Given the description of an element on the screen output the (x, y) to click on. 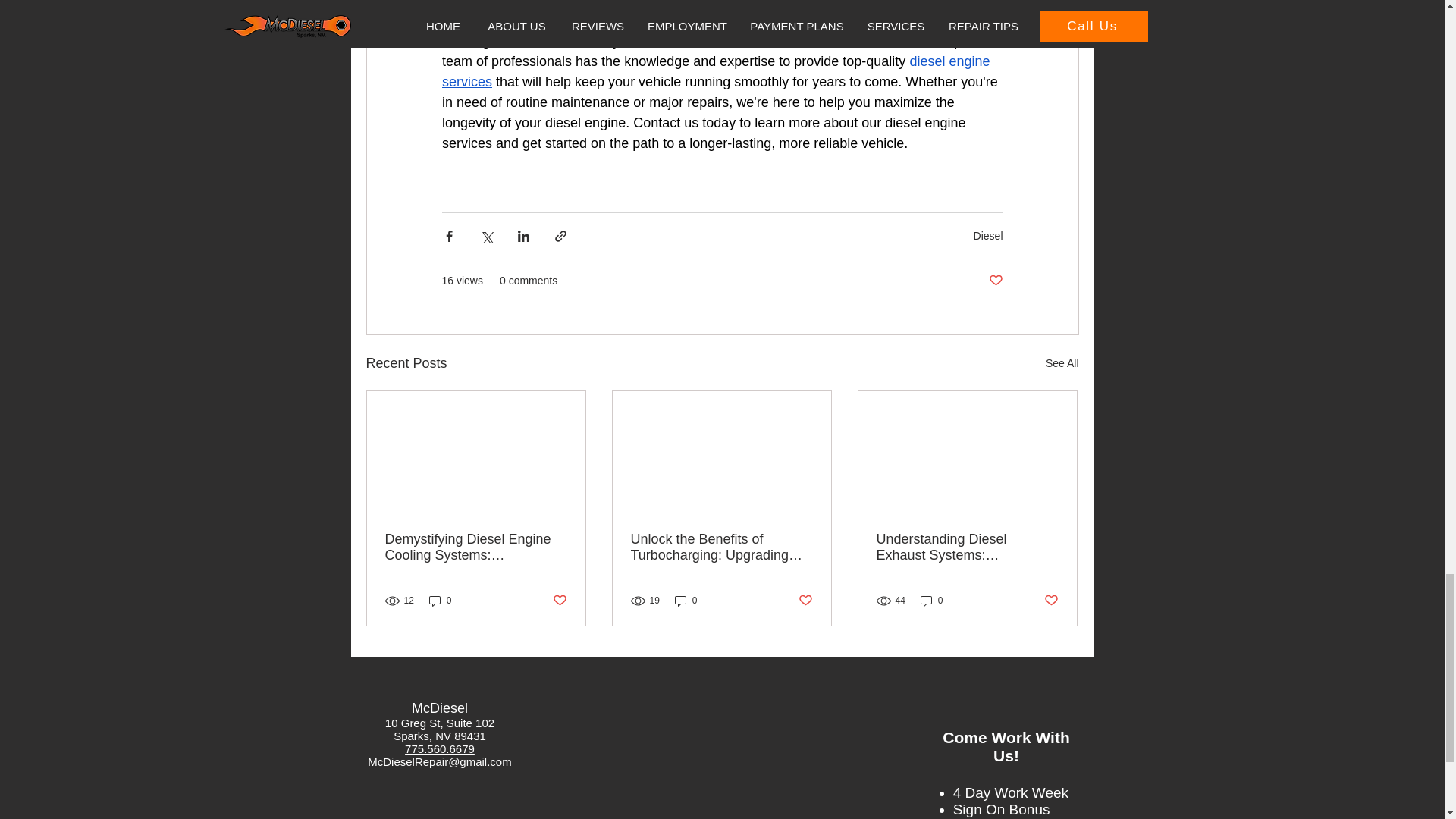
0 (440, 599)
0 (685, 599)
Post not marked as liked (995, 280)
Diesel (988, 234)
0 (931, 599)
diesel engine services (716, 71)
775.560.6679 (439, 748)
